Given the description of an element on the screen output the (x, y) to click on. 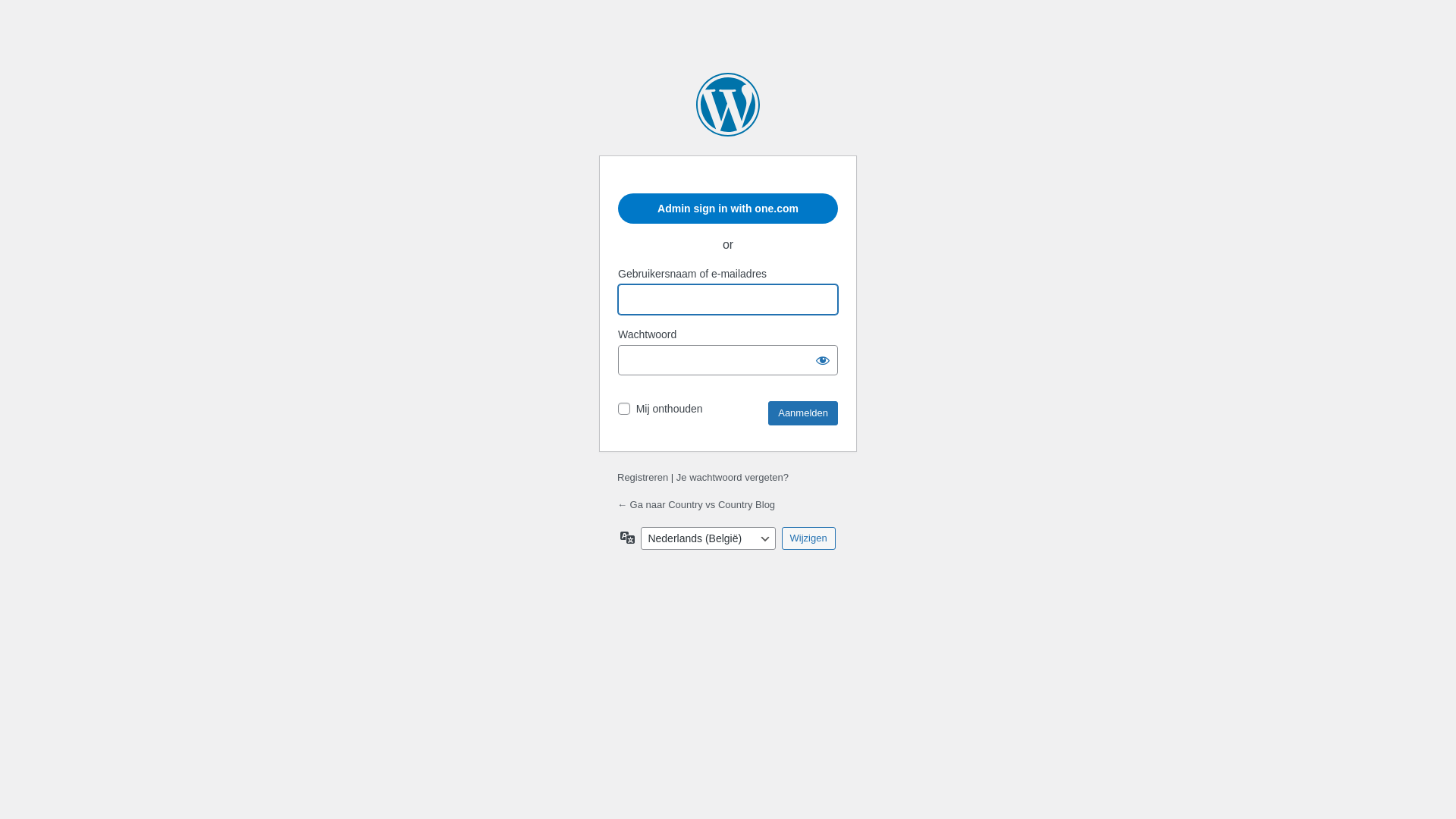
Mogelijk gemaakt door WordPress Element type: text (727, 104)
Admin sign in with one.com Element type: text (727, 208)
Registreren Element type: text (642, 477)
Wijzigen Element type: text (808, 538)
Je wachtwoord vergeten? Element type: text (732, 477)
Aanmelden Element type: text (802, 413)
